Given the description of an element on the screen output the (x, y) to click on. 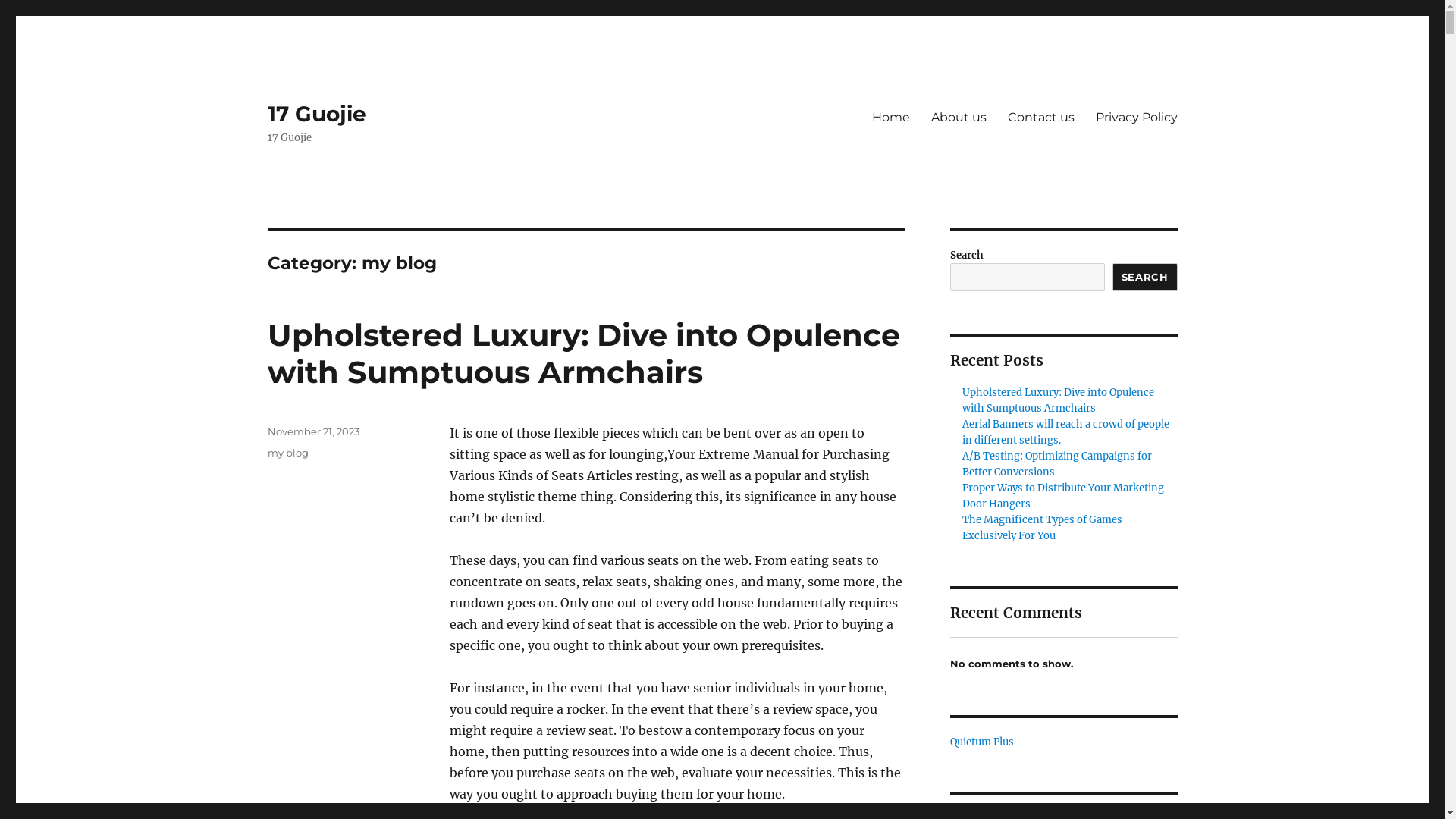
SEARCH Element type: text (1144, 277)
Home Element type: text (890, 116)
Quietum Plus Element type: text (981, 741)
About us Element type: text (958, 116)
November 21, 2023 Element type: text (312, 431)
17 Guojie Element type: text (315, 113)
Contact us Element type: text (1040, 116)
my blog Element type: text (286, 452)
Proper Ways to Distribute Your Marketing Door Hangers Element type: text (1063, 495)
The Magnificent Types of Games Exclusively For You Element type: text (1042, 527)
Privacy Policy Element type: text (1135, 116)
A/B Testing: Optimizing Campaigns for Better Conversions Element type: text (1056, 463)
